Given the description of an element on the screen output the (x, y) to click on. 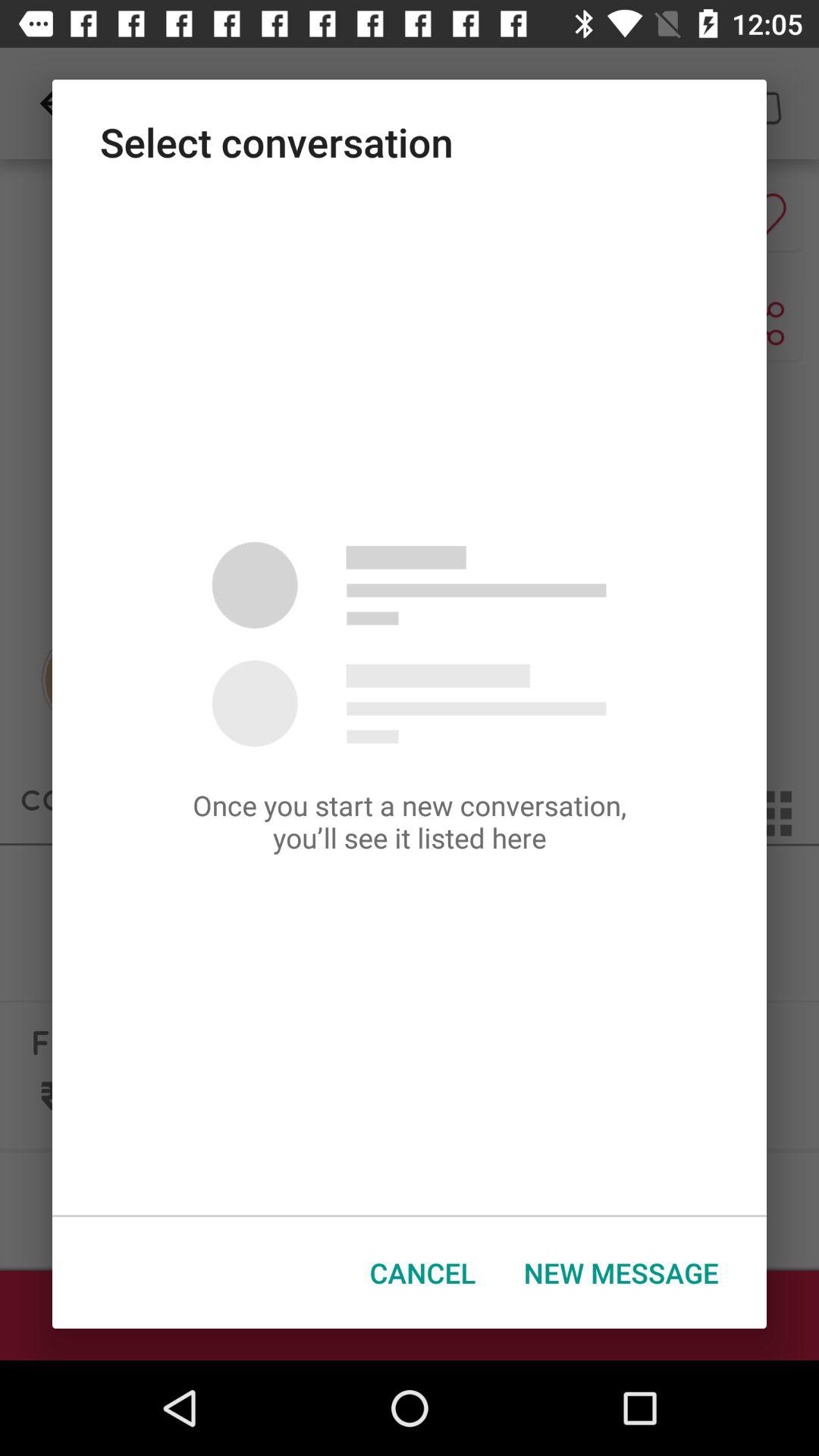
press new message icon (620, 1272)
